Given the description of an element on the screen output the (x, y) to click on. 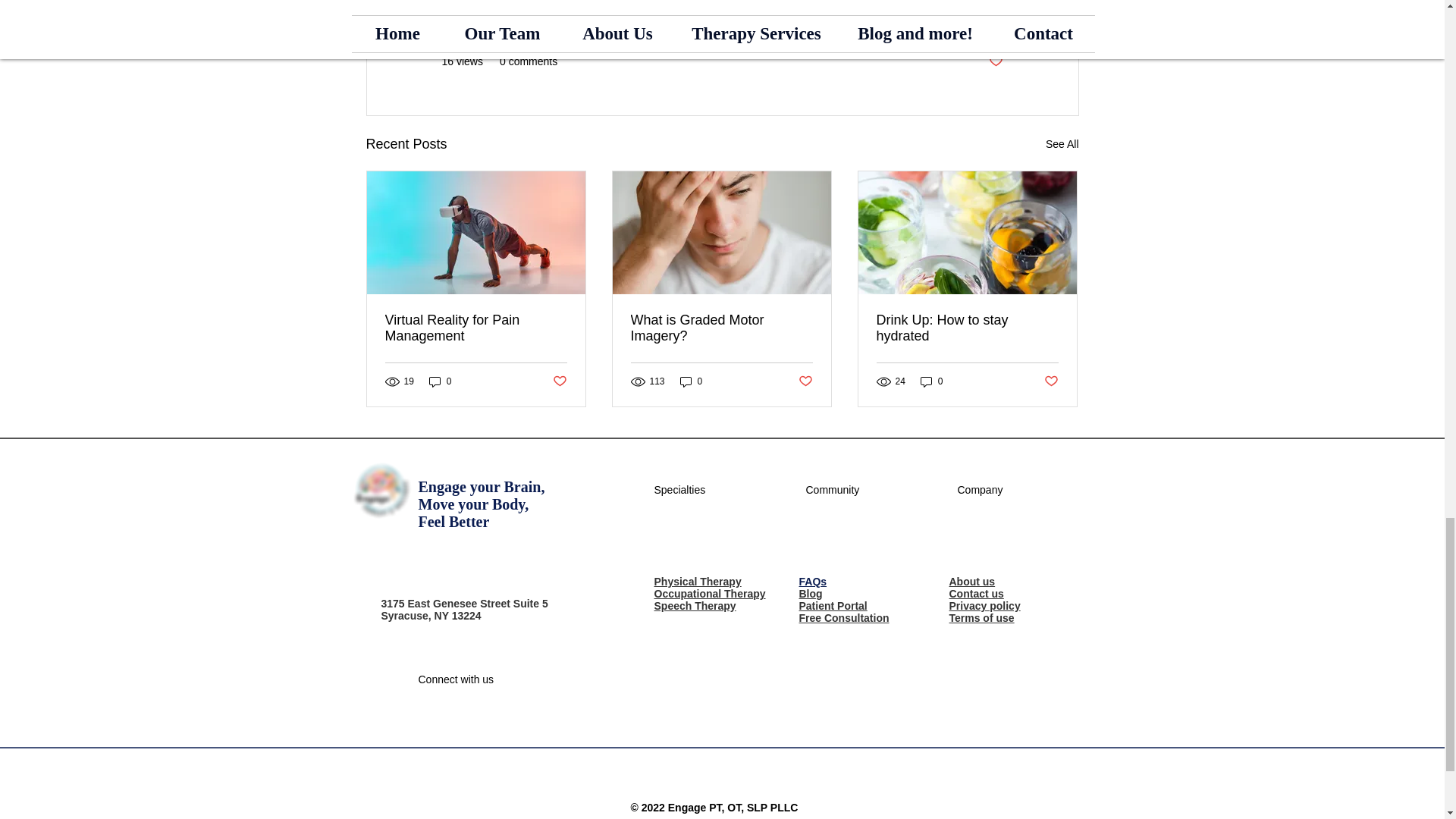
Engage business logo.png (380, 491)
